Given the description of an element on the screen output the (x, y) to click on. 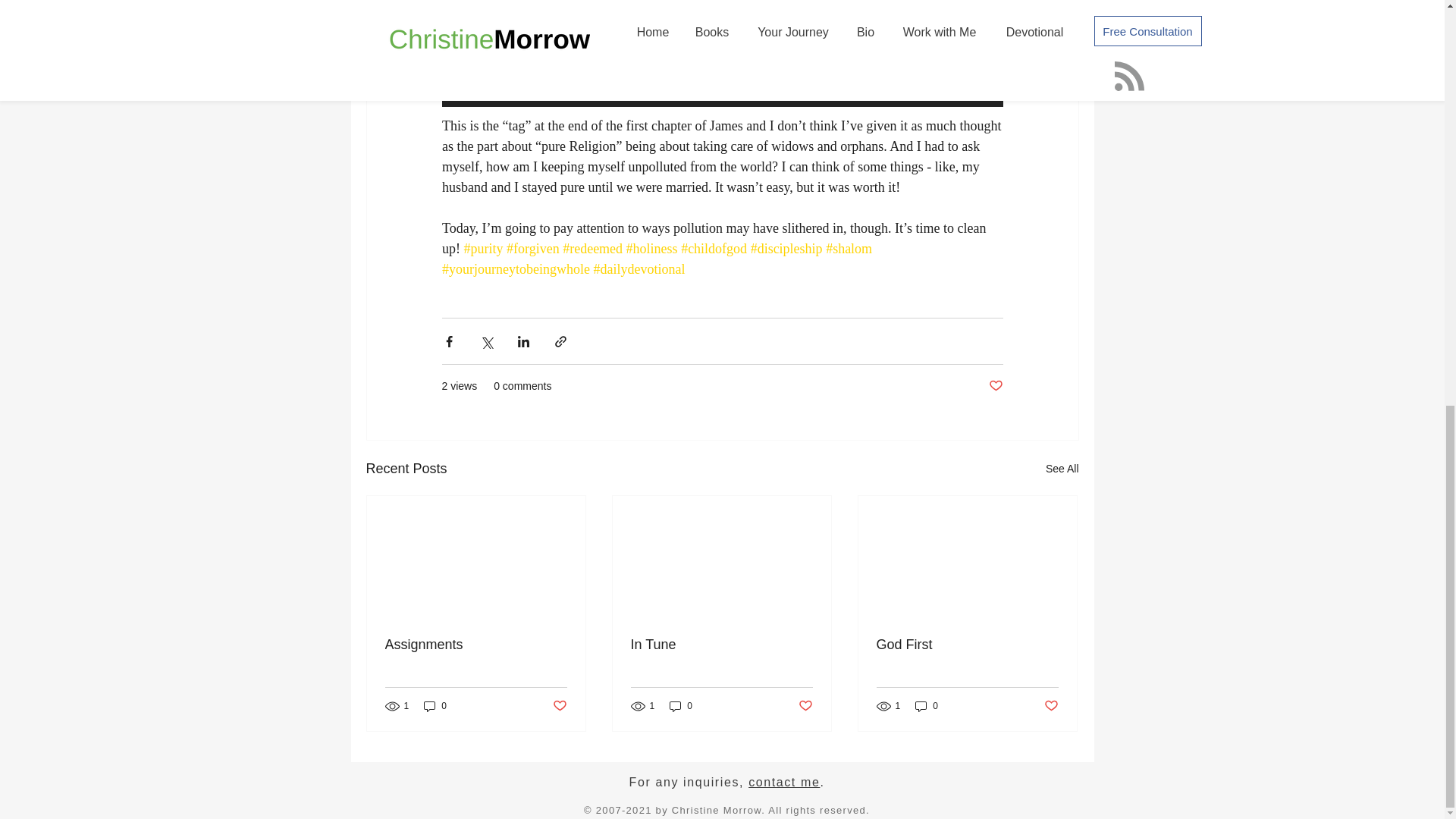
God First (967, 644)
Post not marked as liked (558, 706)
See All (1061, 468)
Post not marked as liked (804, 706)
Assignments (476, 644)
Post not marked as liked (1050, 706)
0 (681, 705)
0 (435, 705)
Post not marked as liked (995, 385)
In Tune (721, 644)
contact me (783, 781)
0 (926, 705)
